Given the description of an element on the screen output the (x, y) to click on. 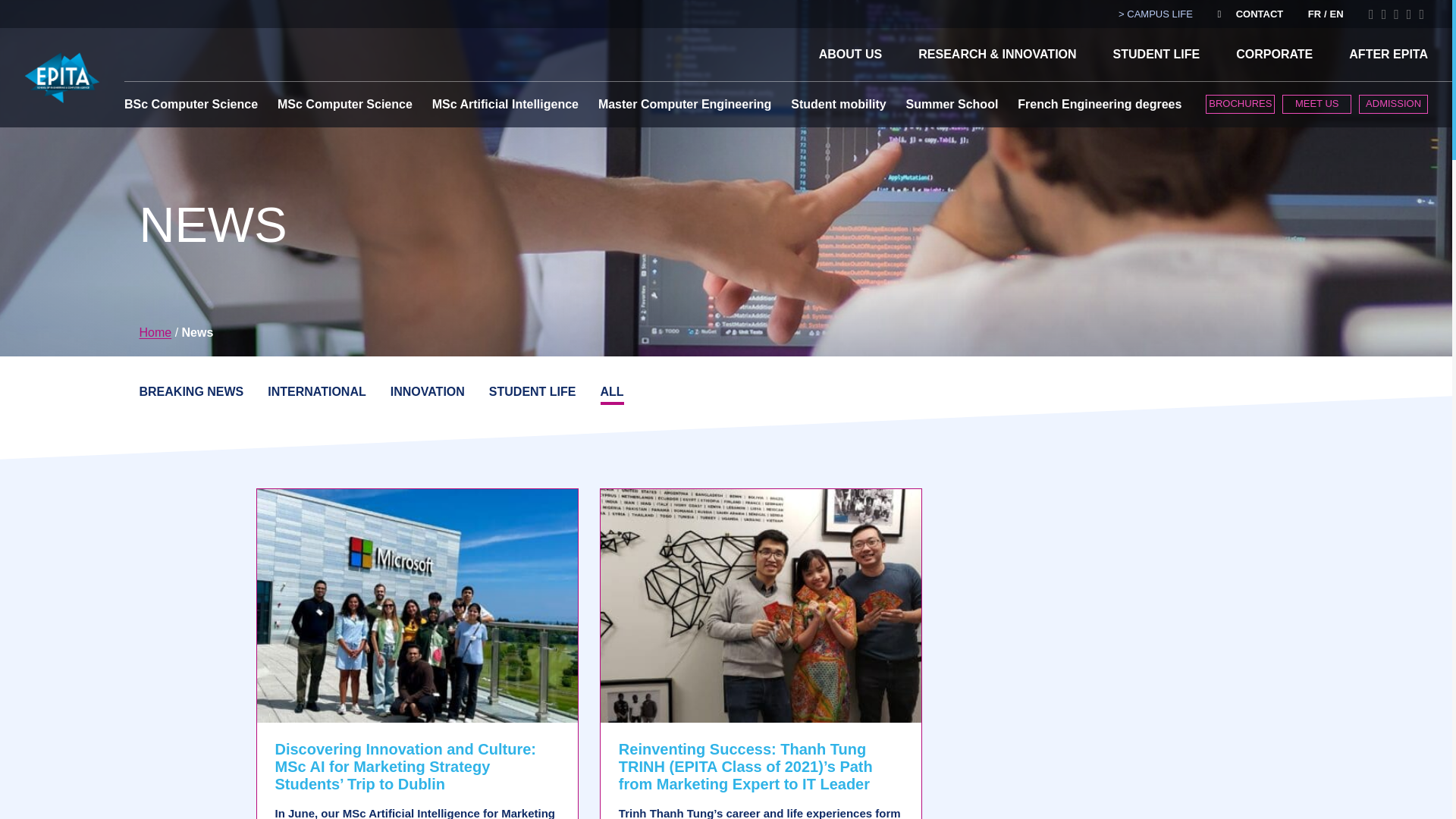
EN (1336, 13)
CONTACT (1259, 13)
ABOUT US (850, 54)
About us (850, 54)
Contact (1259, 13)
FR (1313, 13)
